Given the description of an element on the screen output the (x, y) to click on. 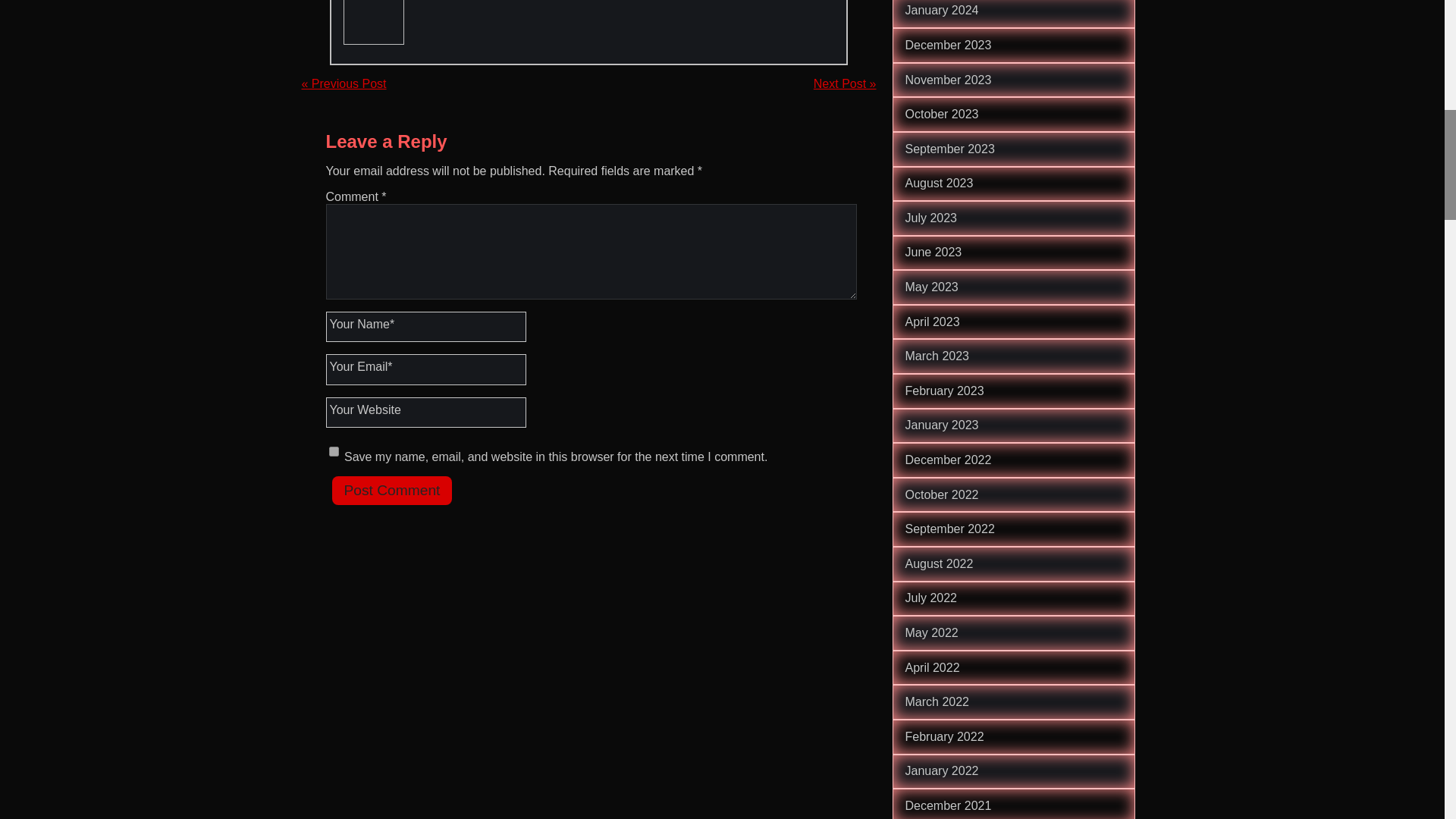
December 2023 (948, 44)
October 2023 (941, 113)
November 2023 (948, 79)
July 2023 (931, 217)
June 2023 (933, 251)
Post Comment (391, 490)
August 2023 (939, 182)
Post Comment (391, 490)
May 2023 (931, 286)
January 2024 (941, 10)
